Given the description of an element on the screen output the (x, y) to click on. 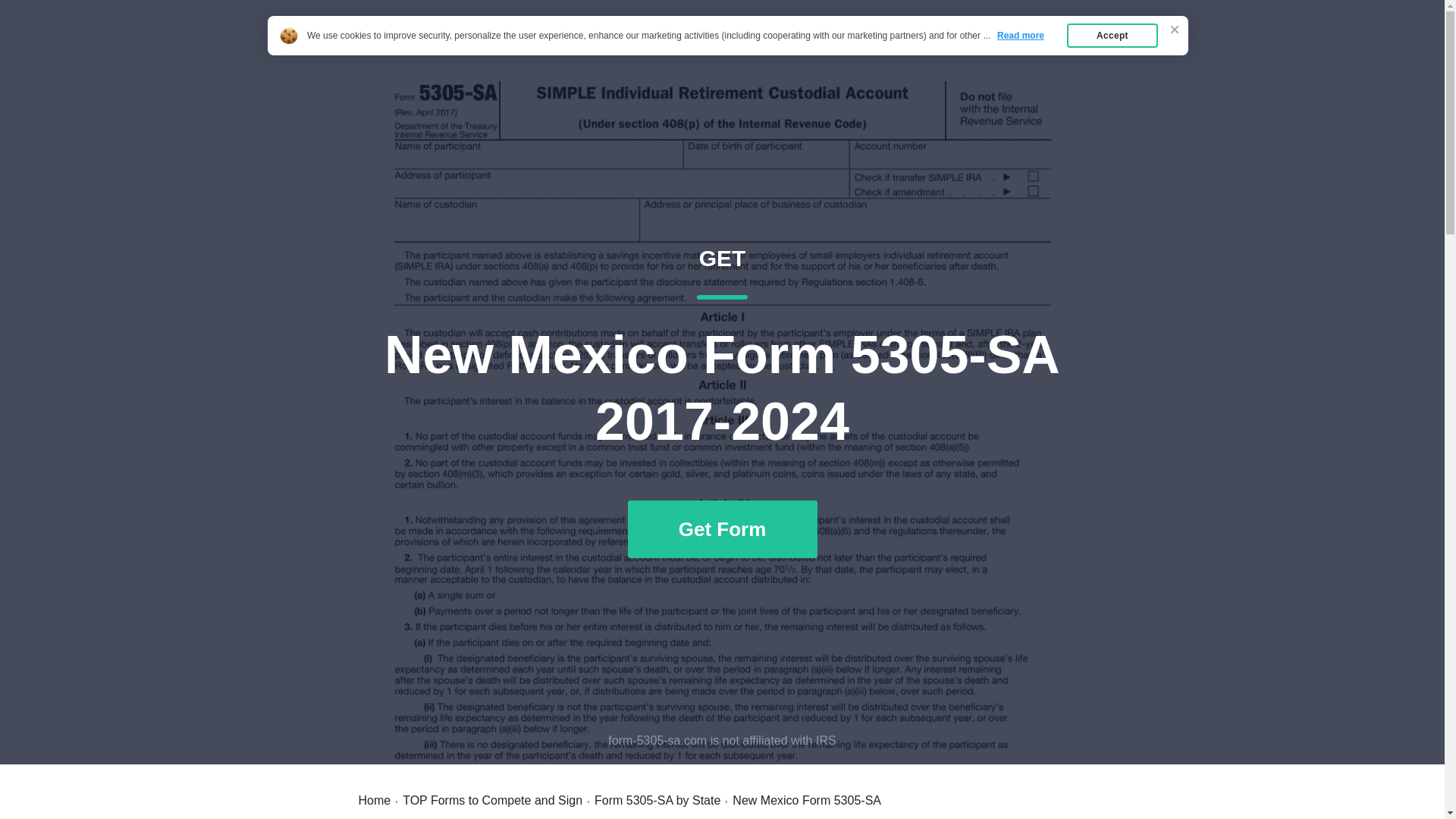
Home (374, 800)
Form 5305 Sa (412, 46)
Form 5305-SA by State (492, 800)
Home (657, 800)
Top Forms (987, 47)
